Given the description of an element on the screen output the (x, y) to click on. 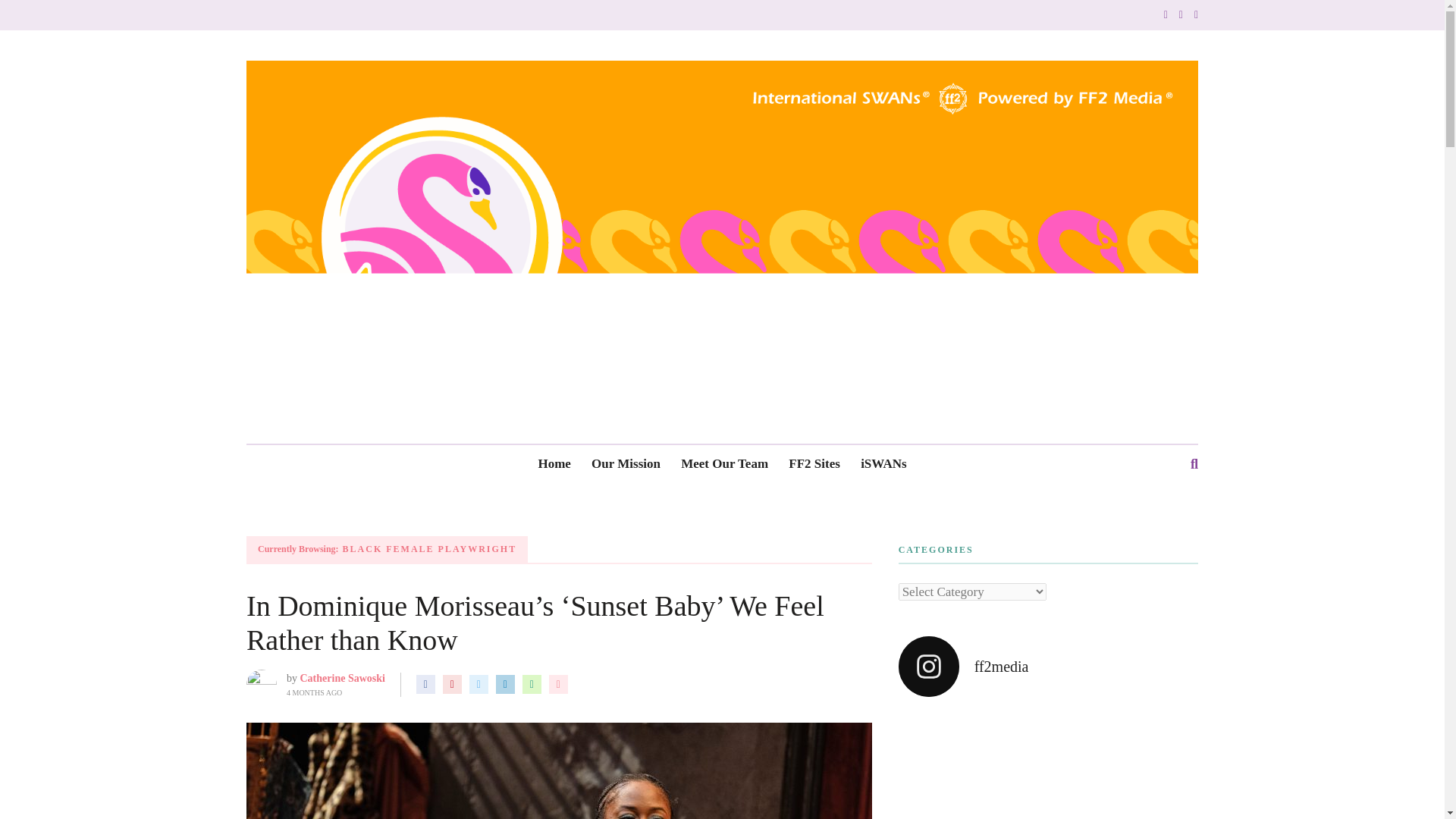
iSWANs (882, 464)
Our Mission (626, 464)
ff2media (1048, 666)
Catherine Sawoski (342, 677)
Posts by Catherine Sawoski (342, 677)
FF2 Sites (814, 464)
Meet Our Team (724, 464)
